Given the description of an element on the screen output the (x, y) to click on. 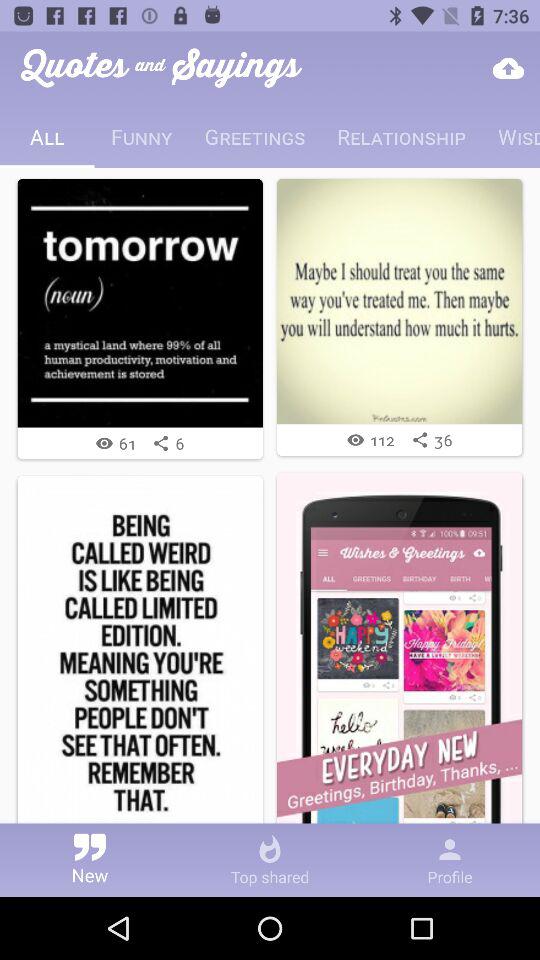
click on share button beside 6 (160, 443)
click on the icon beside 112 (356, 440)
click on the first image (139, 303)
